Given the description of an element on the screen output the (x, y) to click on. 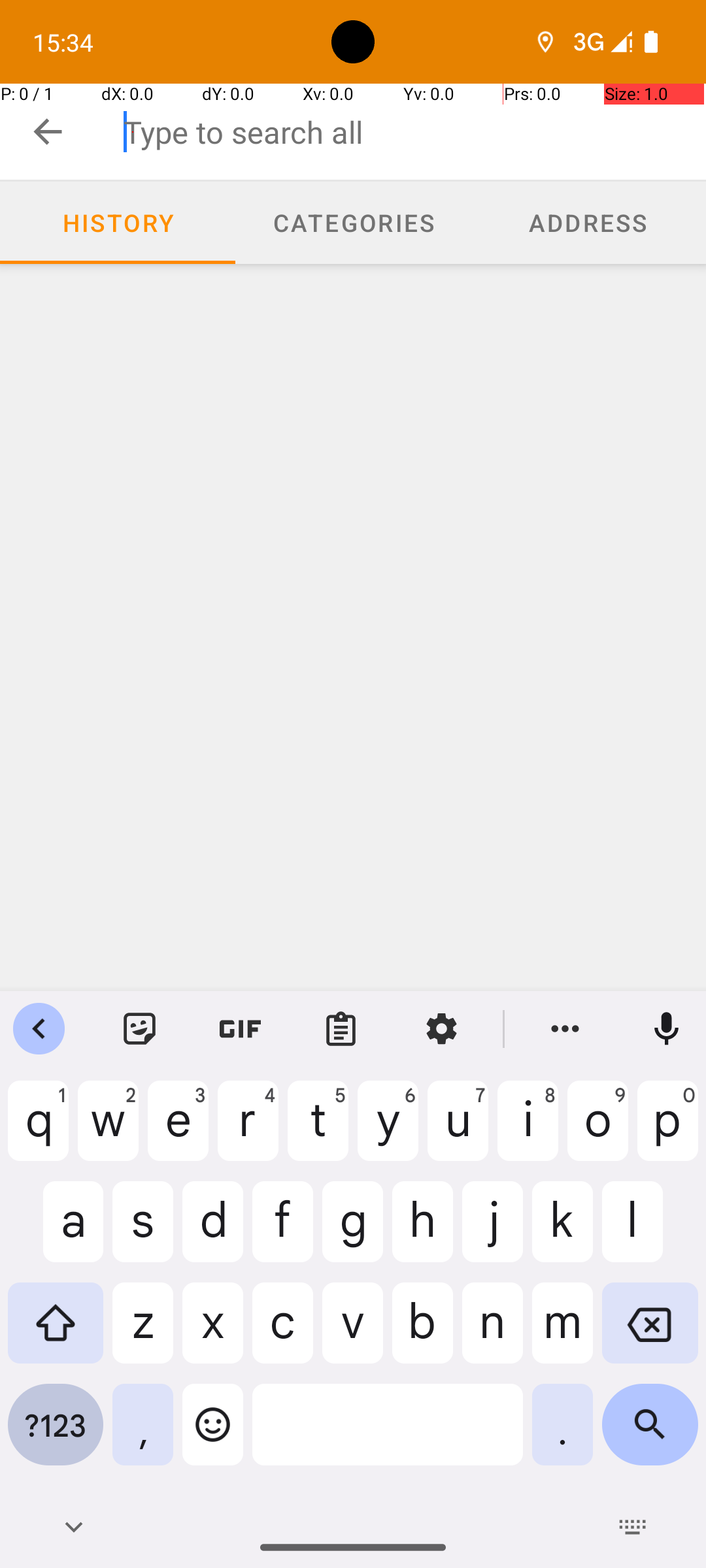
Type to search all Element type: android.widget.EditText (414, 131)
History Element type: android.widget.LinearLayout (117, 222)
Categories Element type: android.widget.LinearLayout (352, 222)
Address Element type: android.widget.LinearLayout (588, 222)
HISTORY Element type: android.widget.TextView (117, 222)
CATEGORIES Element type: android.widget.TextView (352, 222)
ADDRESS Element type: android.widget.TextView (587, 222)
